Given the description of an element on the screen output the (x, y) to click on. 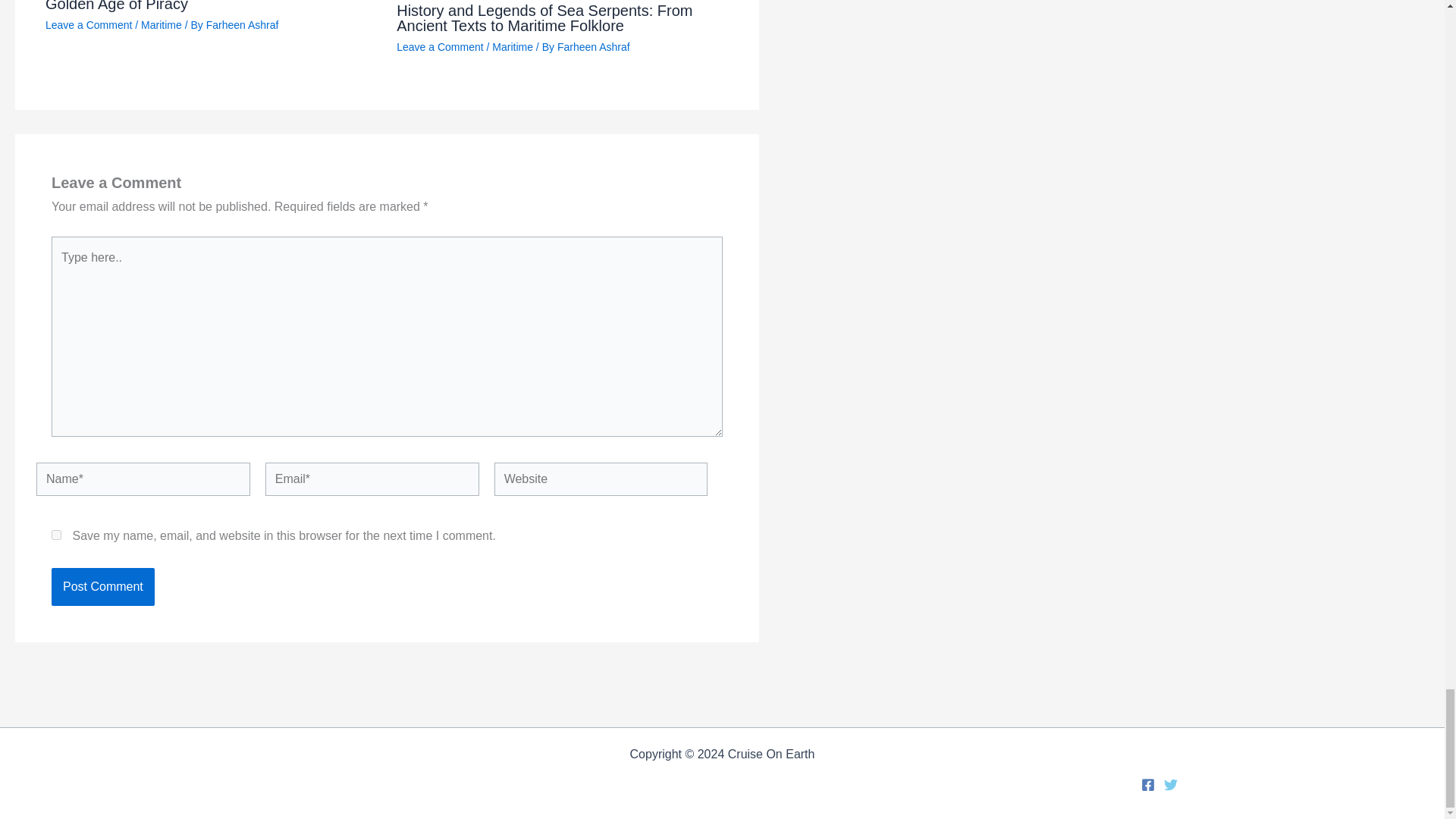
Maritime (161, 24)
Post Comment (102, 587)
View all posts by Farheen Ashraf (242, 24)
Maritime (512, 46)
yes (55, 534)
Leave a Comment (88, 24)
View all posts by Farheen Ashraf (593, 46)
Farheen Ashraf (593, 46)
